Given the description of an element on the screen output the (x, y) to click on. 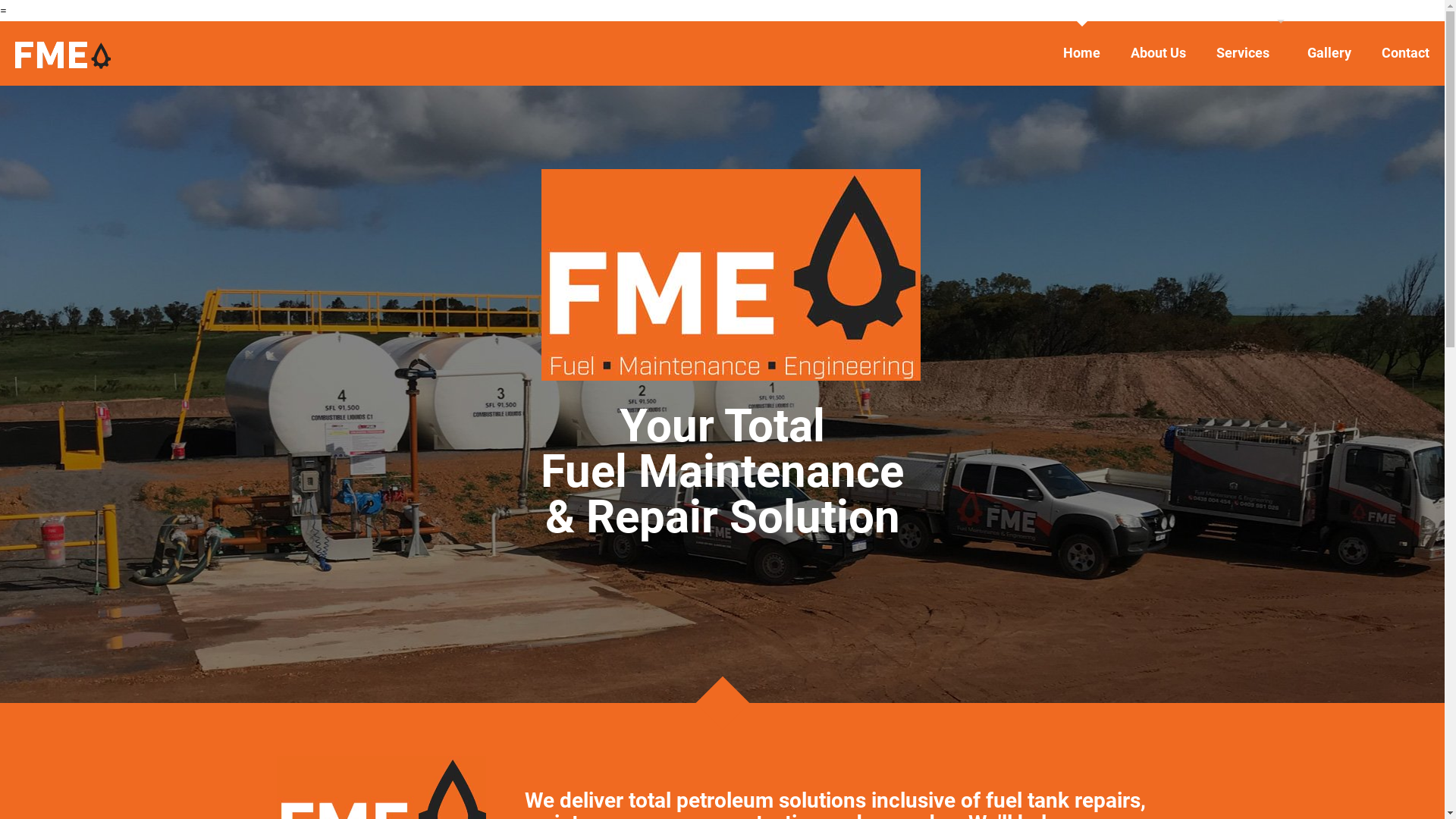
Home Element type: text (1081, 52)
Fuel Management & Engineering Element type: hover (63, 52)
Contact Element type: text (1405, 52)
About Us Element type: text (1158, 52)
Gallery Element type: text (1329, 52)
Services Element type: text (1246, 52)
